Given the description of an element on the screen output the (x, y) to click on. 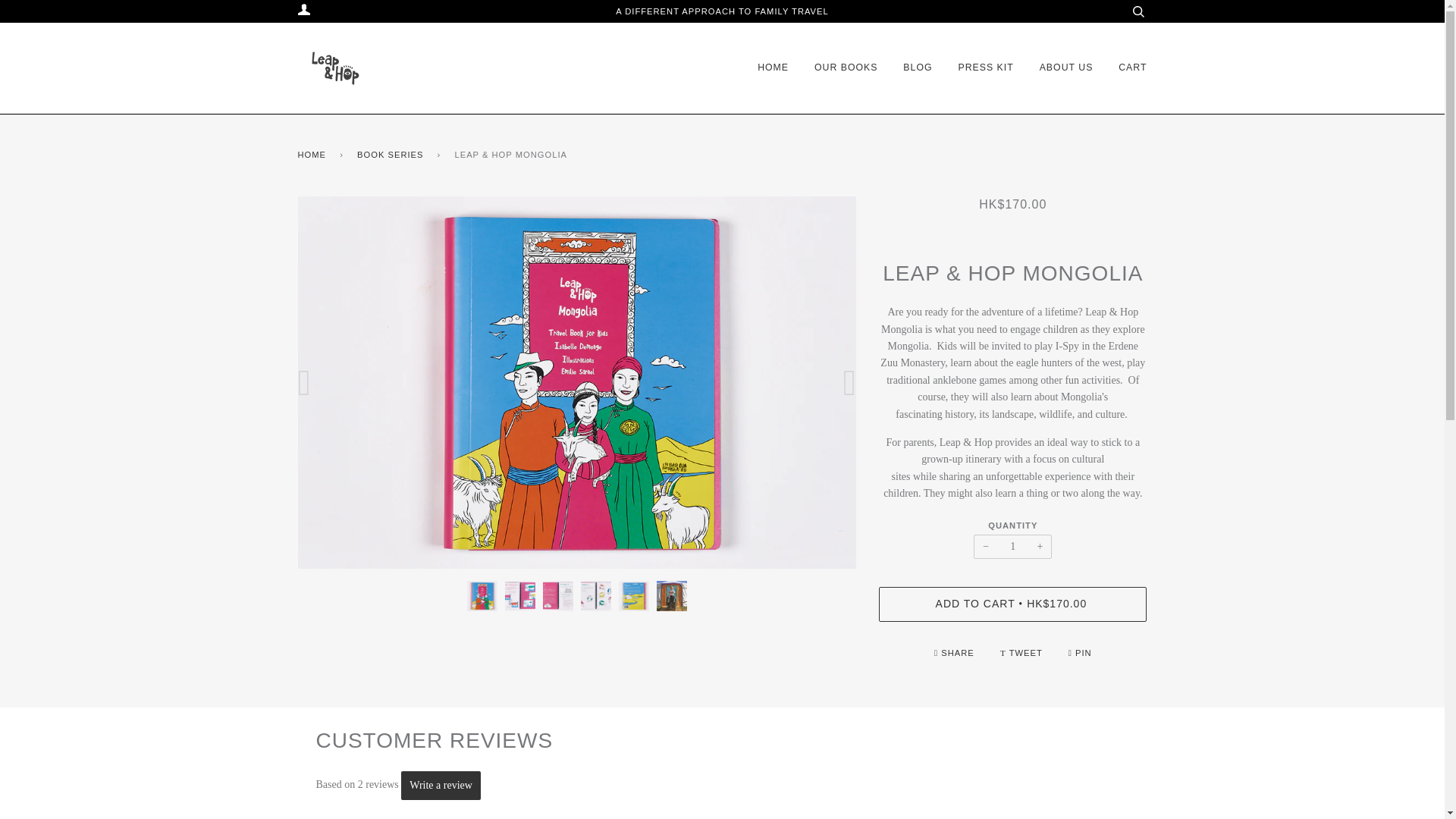
HOME (773, 67)
BLOG (916, 67)
BOOK SERIES (392, 155)
ABOUT US (1066, 67)
CART (1132, 67)
HOME (314, 155)
TWEET (1022, 652)
PIN (1080, 652)
SHARE (955, 652)
1 (1012, 546)
Next (842, 382)
PRESS KIT (985, 67)
OUR BOOKS (845, 67)
Back to the frontpage (314, 155)
Write a review (440, 785)
